Given the description of an element on the screen output the (x, y) to click on. 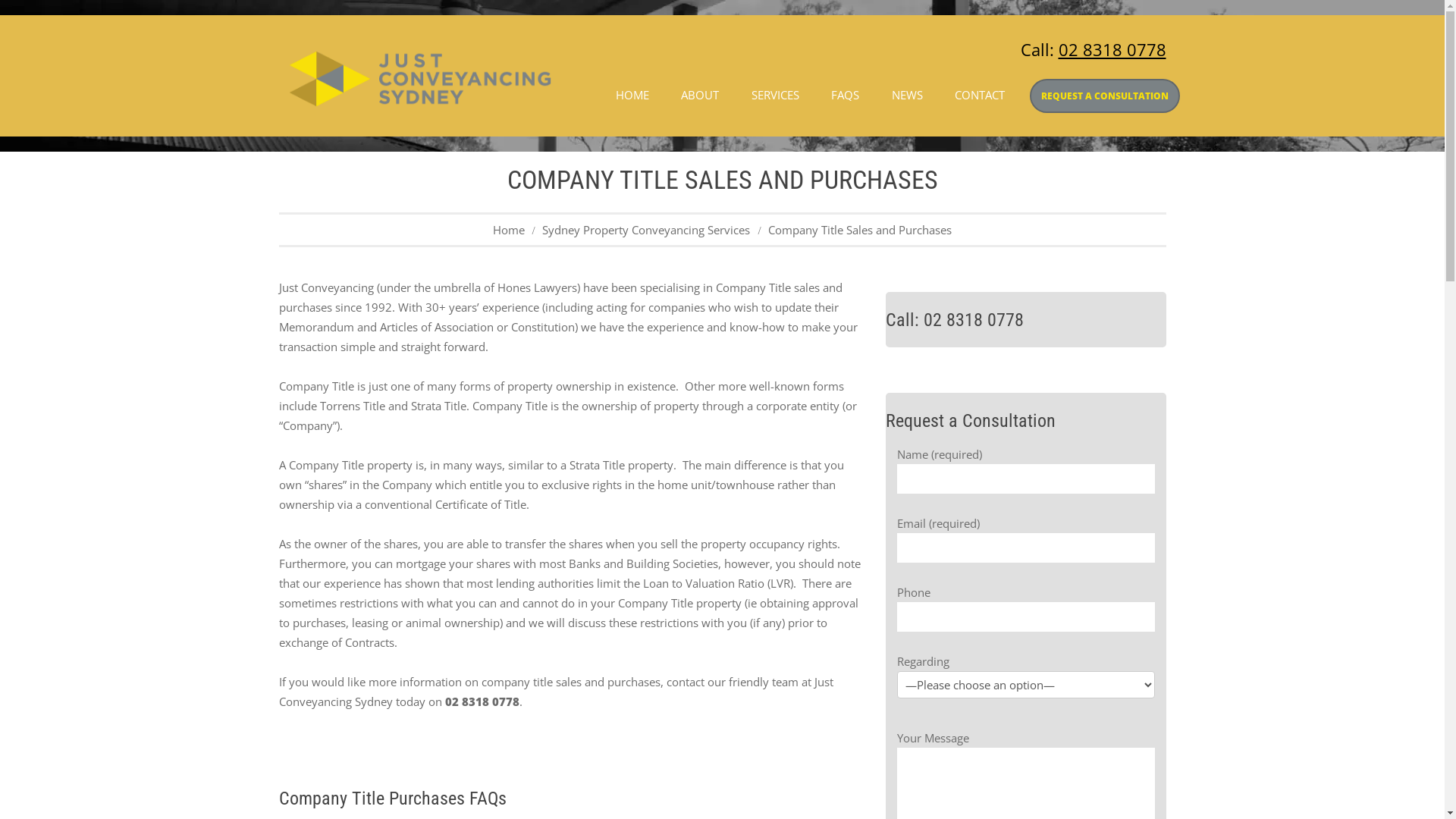
FAQS Element type: text (844, 93)
Home Element type: text (508, 229)
HOME Element type: text (632, 93)
Property Conveyancing Specialists Element type: hover (418, 78)
02 8318 0778 Element type: text (973, 319)
Sydney Property Conveyancing Services Element type: text (645, 229)
02 8318 0778 Element type: text (1112, 48)
ABOUT Element type: text (699, 93)
SERVICES Element type: text (774, 93)
CONTACT Element type: text (979, 93)
NEWS Element type: text (907, 93)
REQUEST A CONSULTATION Element type: text (1104, 95)
